Given the description of an element on the screen output the (x, y) to click on. 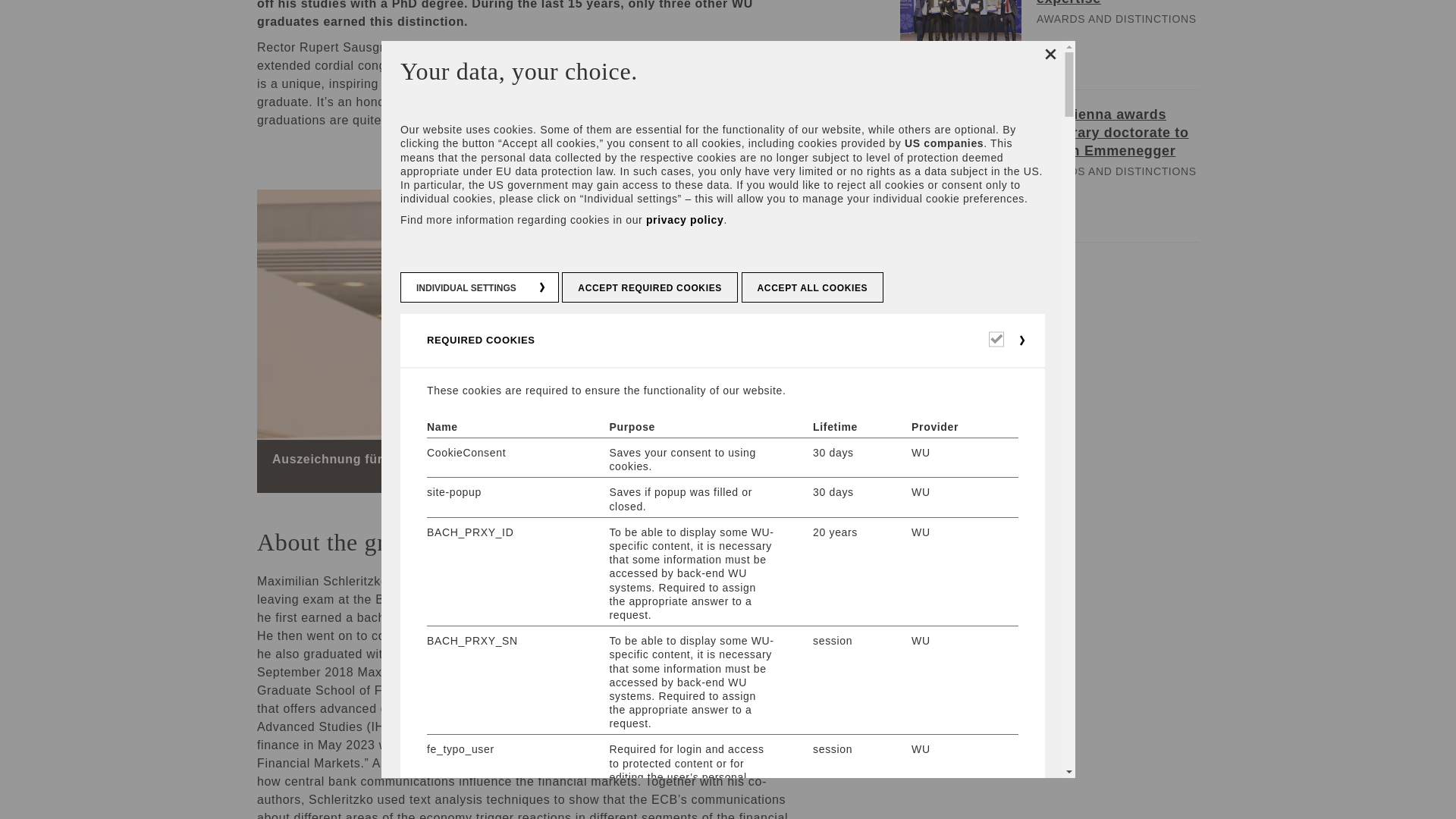
WU students excel with their financial expertise (1117, 3)
